Given the description of an element on the screen output the (x, y) to click on. 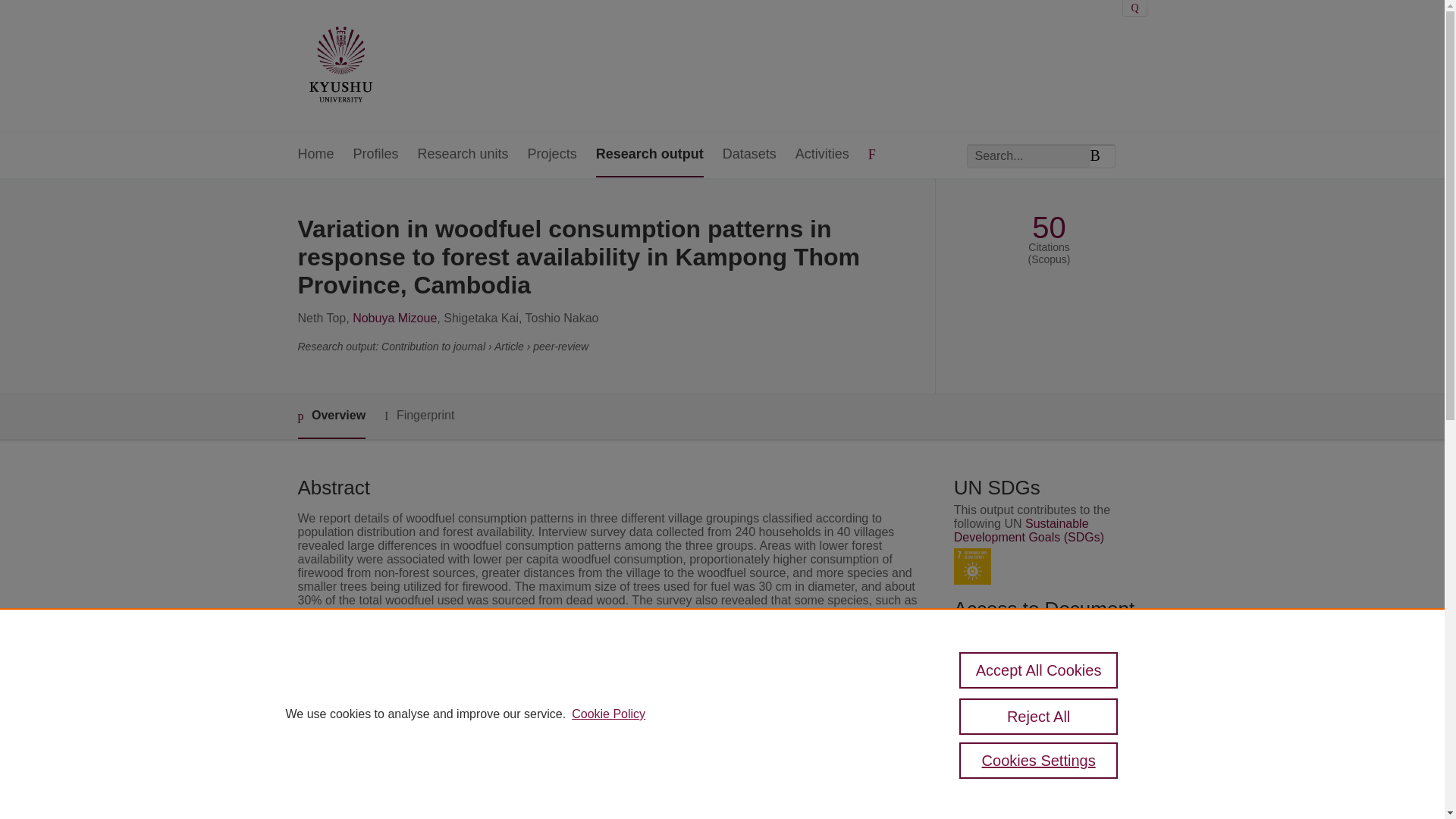
Overview (331, 415)
Biomass and Bioenergy (573, 758)
Activities (821, 154)
Datasets (749, 154)
Research output (649, 154)
SDG 7 - Affordable and Clean Energy (972, 566)
Link to publication in Scopus (1045, 690)
Projects (551, 154)
Link to the citations in Scopus (1048, 716)
